Given the description of an element on the screen output the (x, y) to click on. 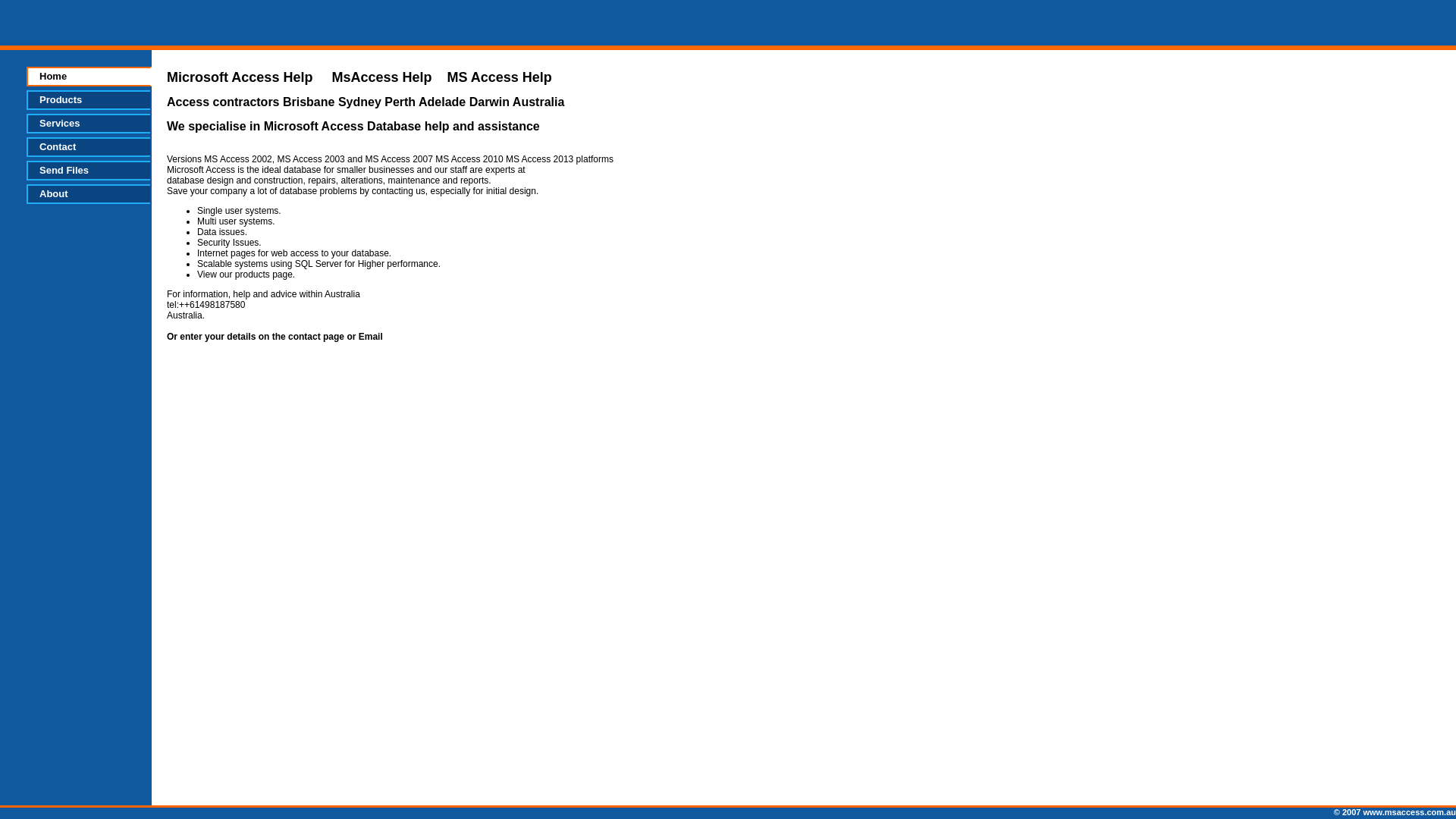
Services Element type: text (88, 123)
Home Element type: text (88, 76)
Products Element type: text (88, 99)
Contact Element type: text (88, 146)
Send Files Element type: text (88, 170)
About Element type: text (88, 193)
